Given the description of an element on the screen output the (x, y) to click on. 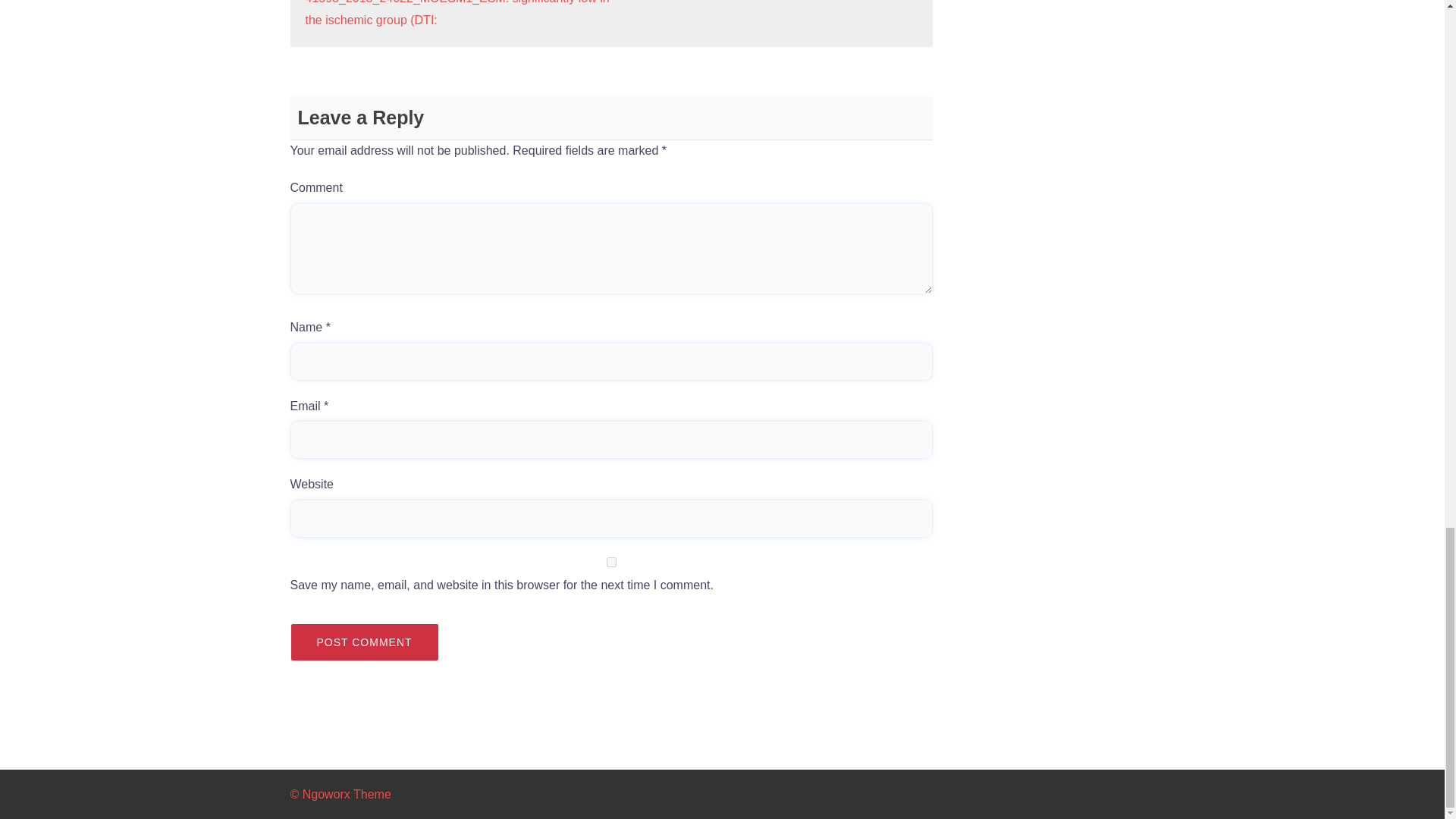
Post Comment (363, 641)
Post Comment (363, 641)
yes (611, 562)
